Given the description of an element on the screen output the (x, y) to click on. 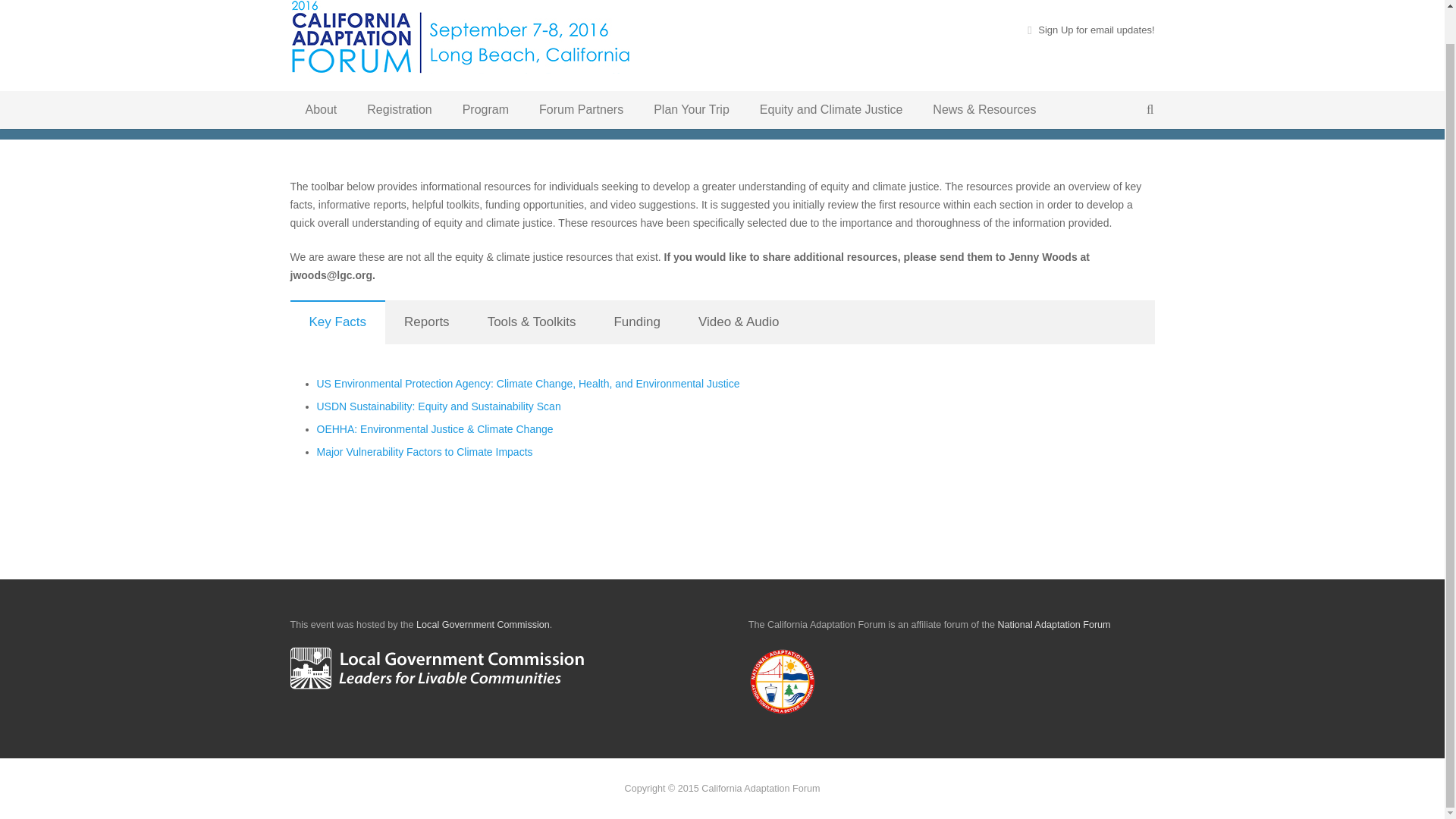
Plan Your Trip (691, 75)
Equity and Climate Justice (831, 75)
Forum Partners (581, 75)
Registration (399, 75)
Program (485, 75)
About (320, 75)
